Given the description of an element on the screen output the (x, y) to click on. 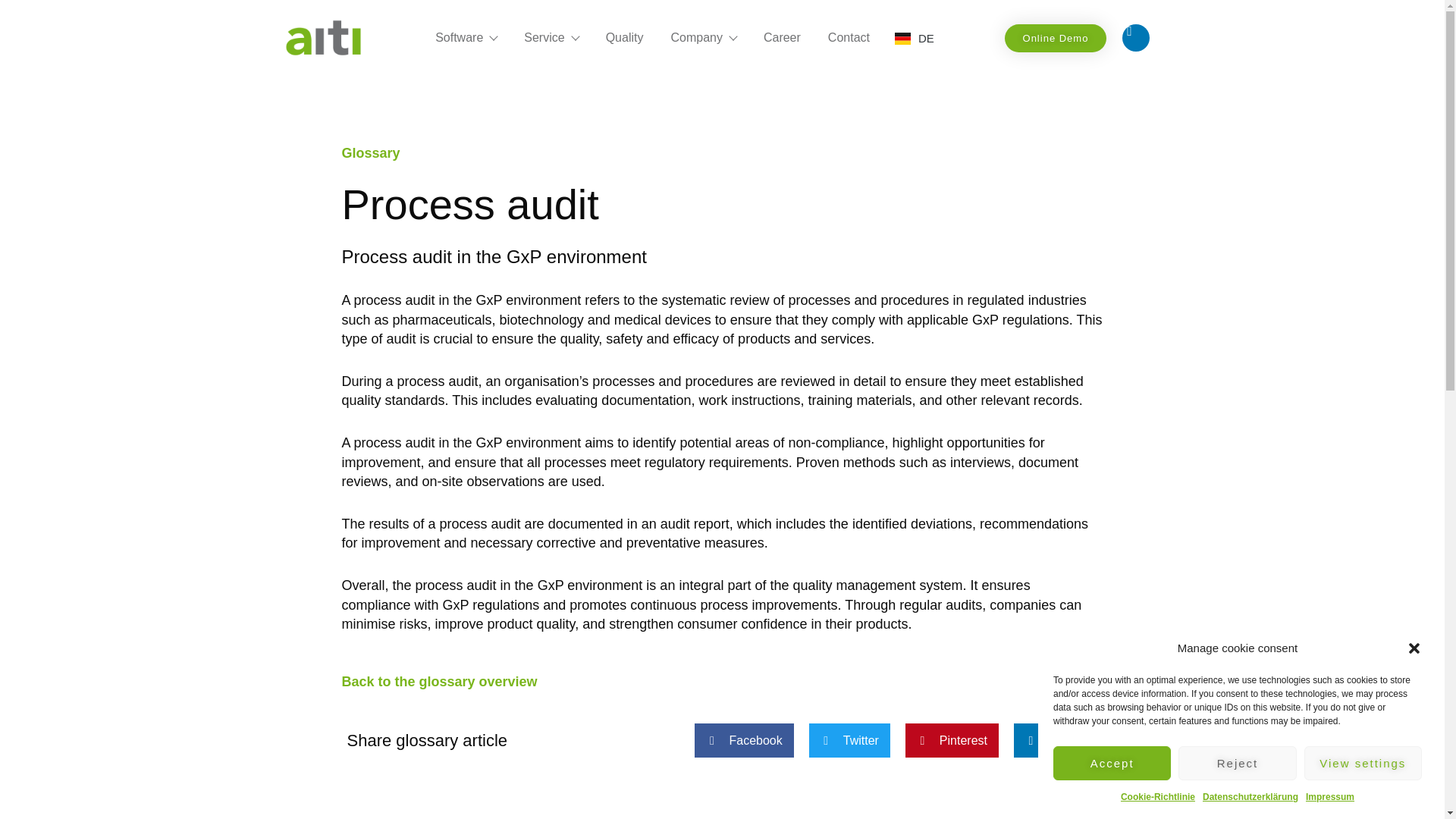
Online Demo (1055, 38)
Contact (849, 37)
Software (465, 37)
Skip to content (11, 31)
DE (914, 38)
Service (550, 37)
Career (781, 37)
Company (702, 37)
Quality (624, 37)
